Given the description of an element on the screen output the (x, y) to click on. 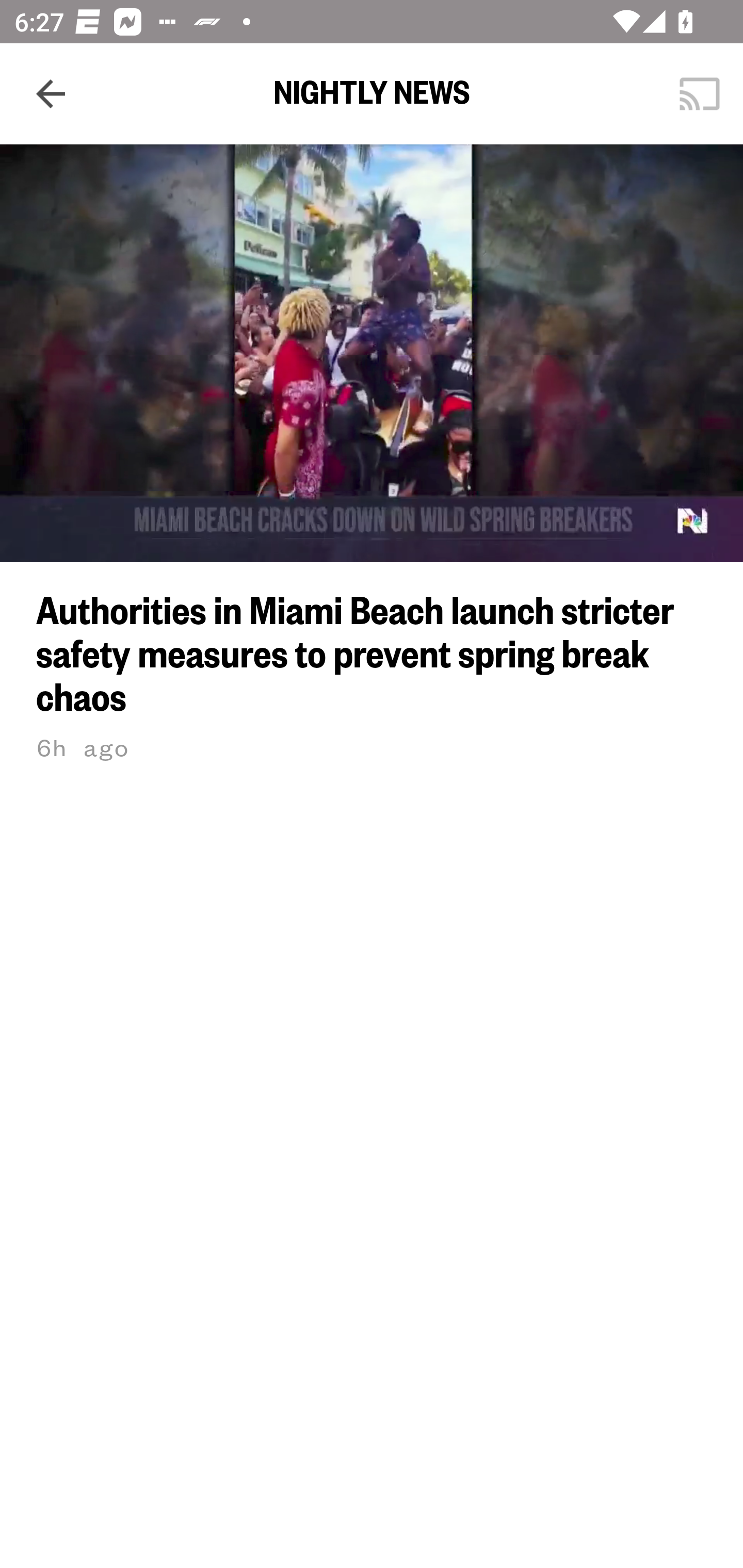
Navigate up (50, 93)
Cast. Disconnected (699, 93)
